Given the description of an element on the screen output the (x, y) to click on. 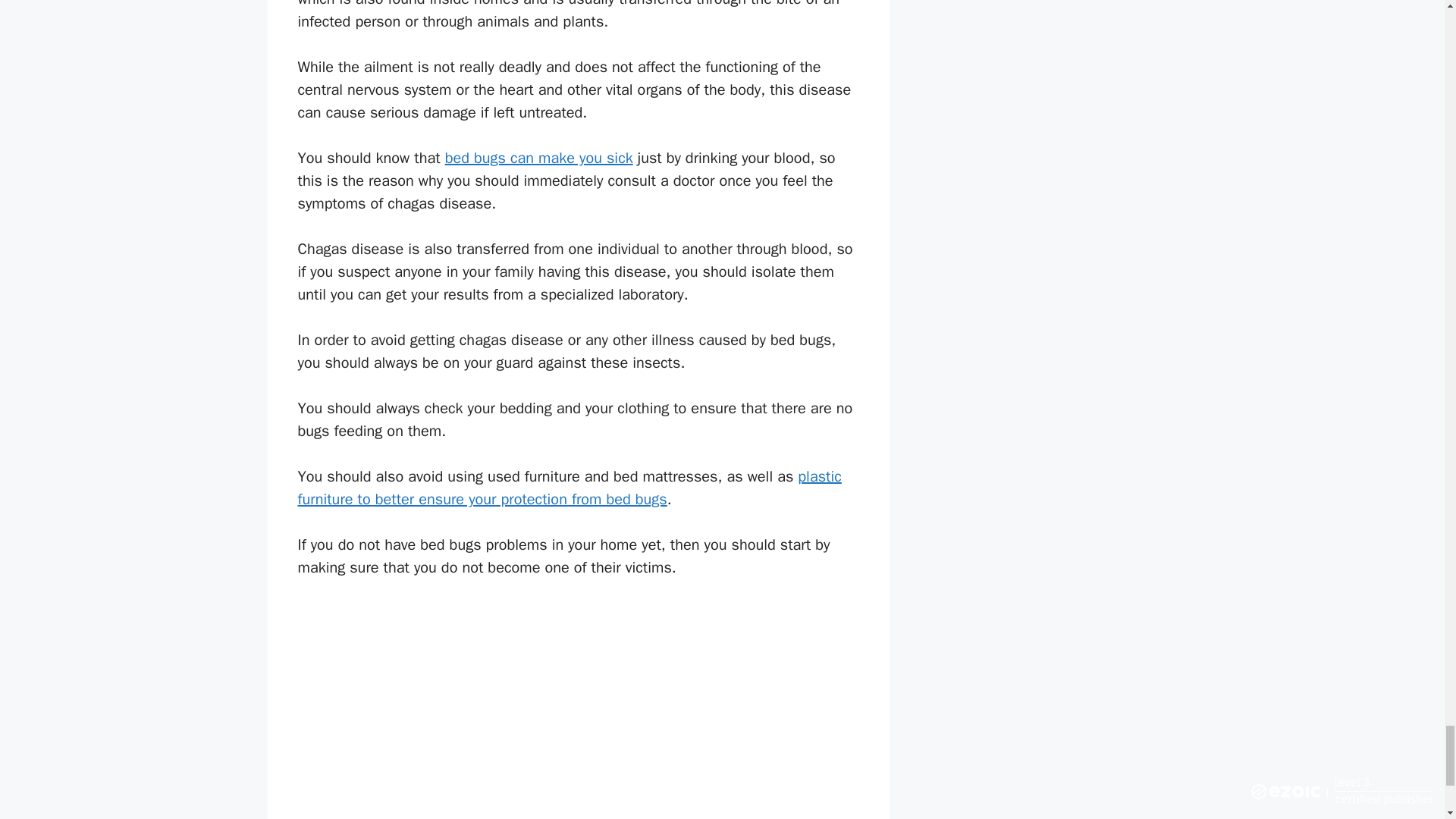
bed bugs can make you sick (539, 157)
